Given the description of an element on the screen output the (x, y) to click on. 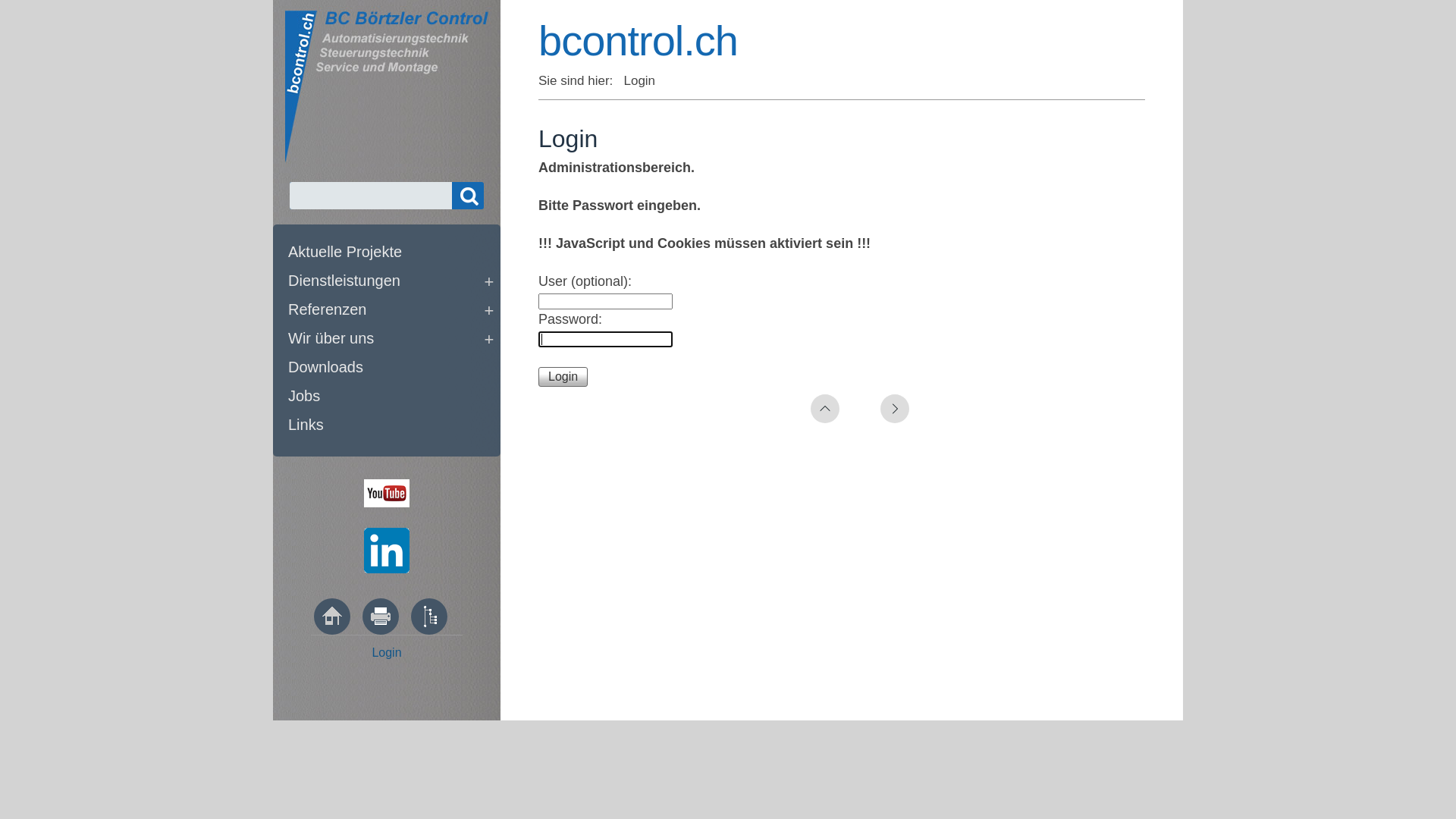
Dienstleistungen Element type: text (390, 282)
Login Element type: text (562, 376)
Suchen Element type: hover (467, 195)
Login Element type: text (386, 652)
Links Element type: text (390, 426)
Downloads Element type: text (390, 368)
Jobs Element type: text (390, 397)
Inhaltsverzeichnis Element type: hover (429, 616)
Startseite Element type: hover (331, 616)
Aktuelle Projekte   Element type: text (390, 253)
Seitenanfang Element type: hover (824, 408)
Referenzen Element type: text (390, 311)
Druckansicht Element type: hover (380, 616)
